Given the description of an element on the screen output the (x, y) to click on. 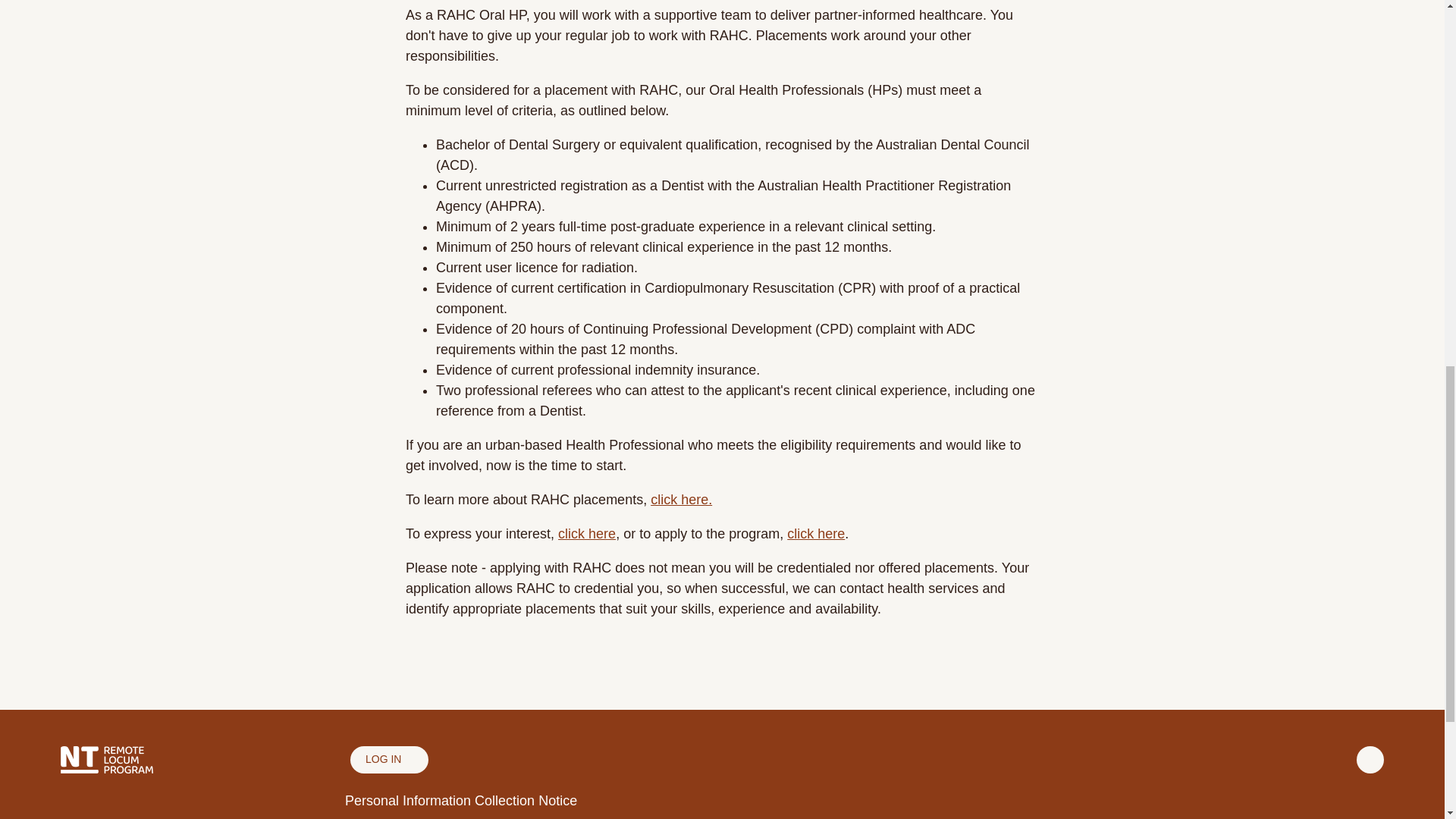
Personal Information Collection Notice (460, 800)
click here (815, 533)
click here (586, 533)
LOG IN (389, 759)
click here. (680, 499)
